Given the description of an element on the screen output the (x, y) to click on. 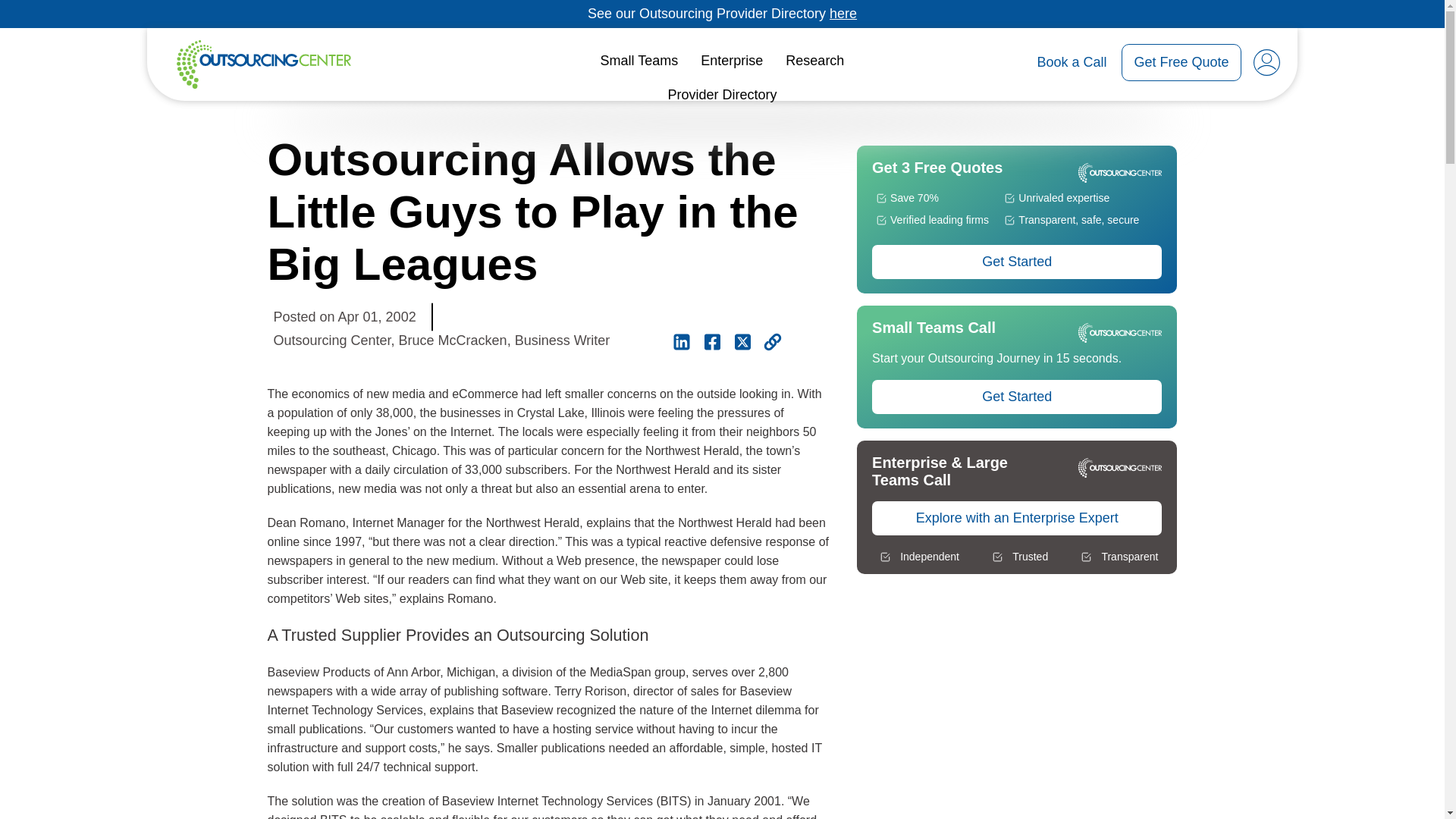
Account (1265, 62)
Get Free Quote (1180, 62)
here (843, 13)
share (771, 341)
Book a Call (1071, 61)
facebook (711, 341)
linkedin (681, 341)
twitter (742, 341)
Small Teams (639, 60)
